Given the description of an element on the screen output the (x, y) to click on. 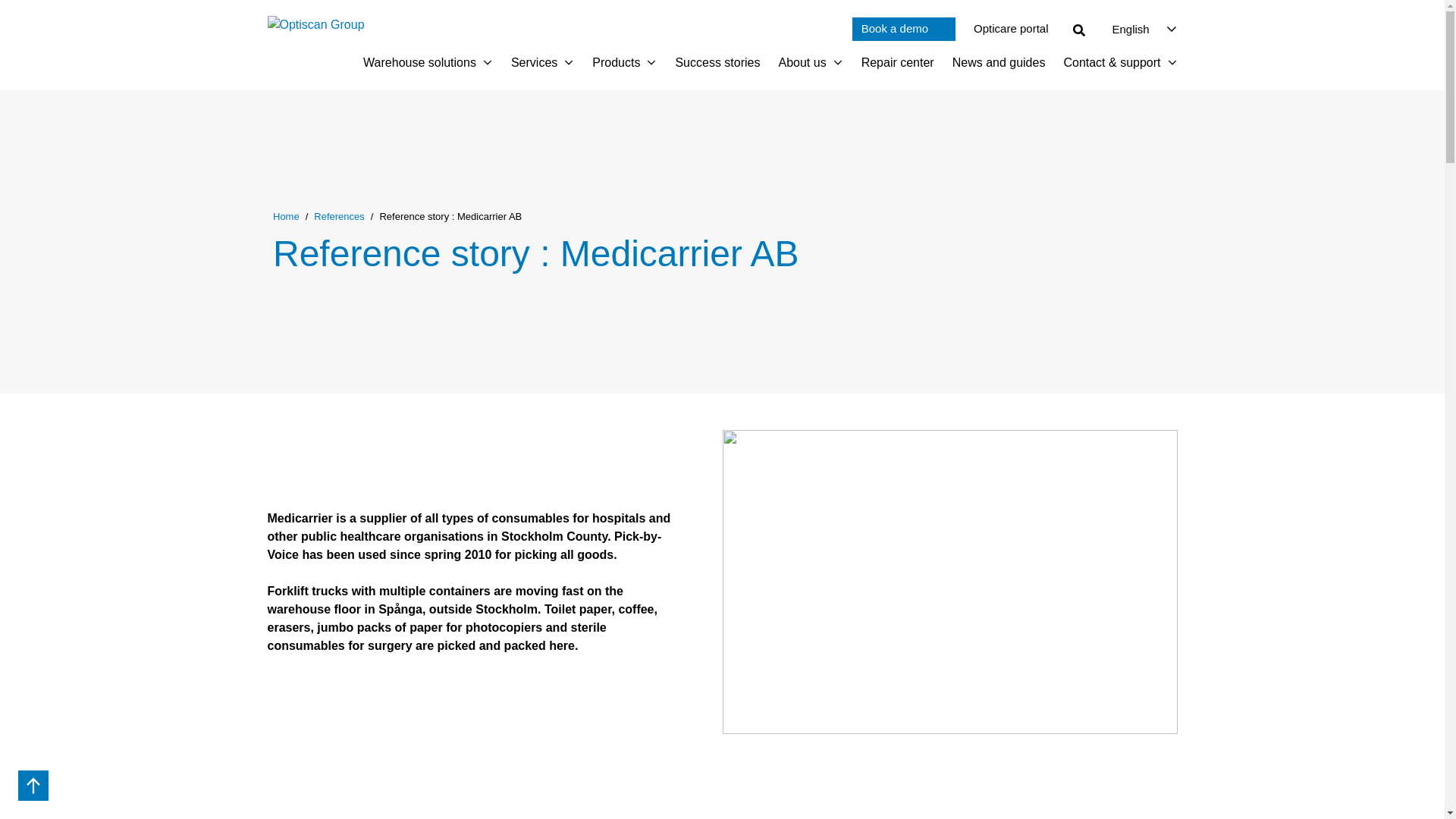
Opticare portal (1011, 28)
Book a demo (903, 28)
Products (616, 63)
English (1130, 29)
Services (534, 63)
Warehouse solutions (419, 63)
